Given the description of an element on the screen output the (x, y) to click on. 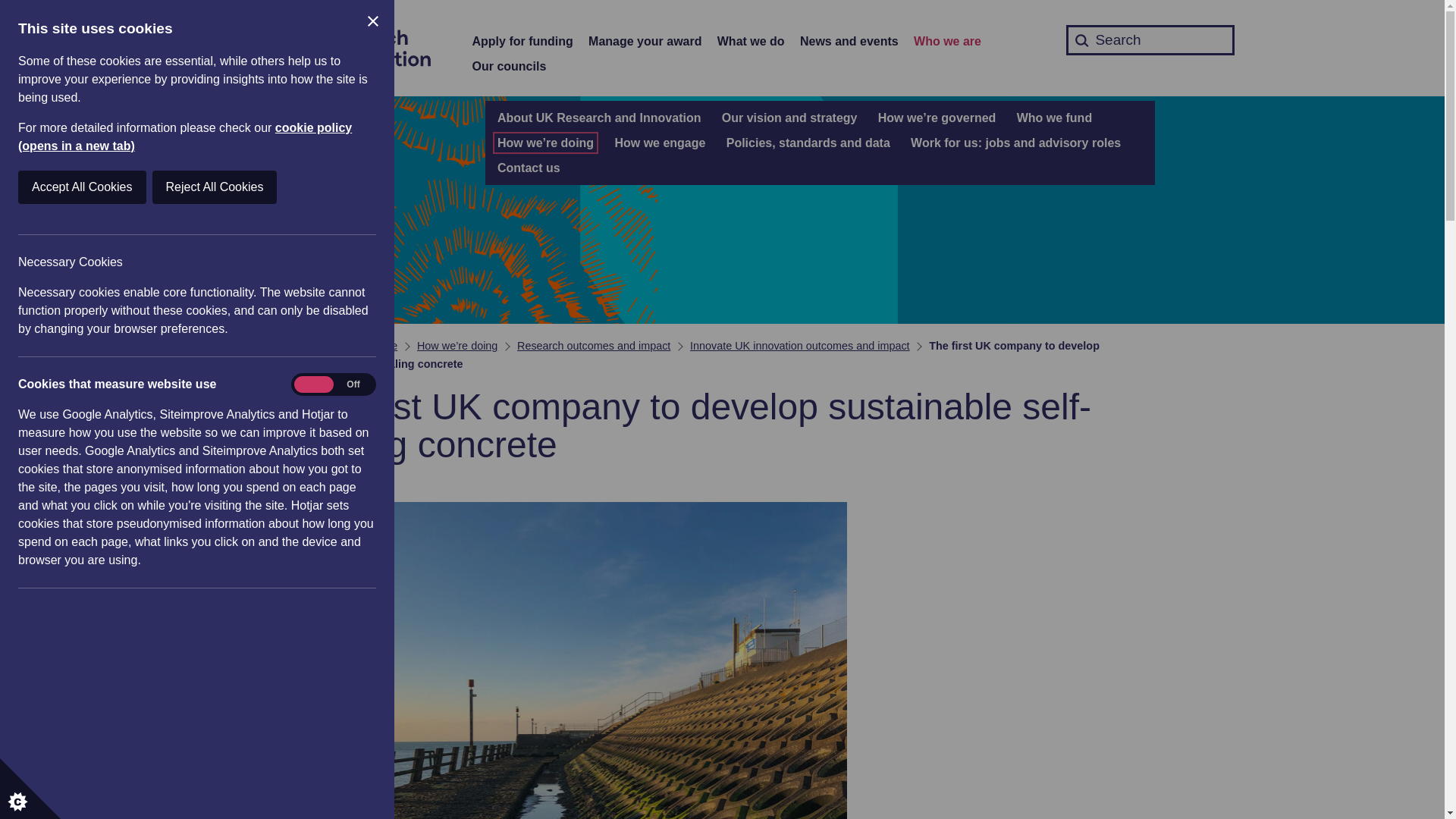
Reject All Cookies (119, 186)
Our councils (508, 66)
What we do (750, 41)
Skip to main content (11, 7)
Apply for funding (521, 41)
on (333, 384)
News and events (848, 41)
Manage your award (644, 41)
Who we are (947, 41)
